Given the description of an element on the screen output the (x, y) to click on. 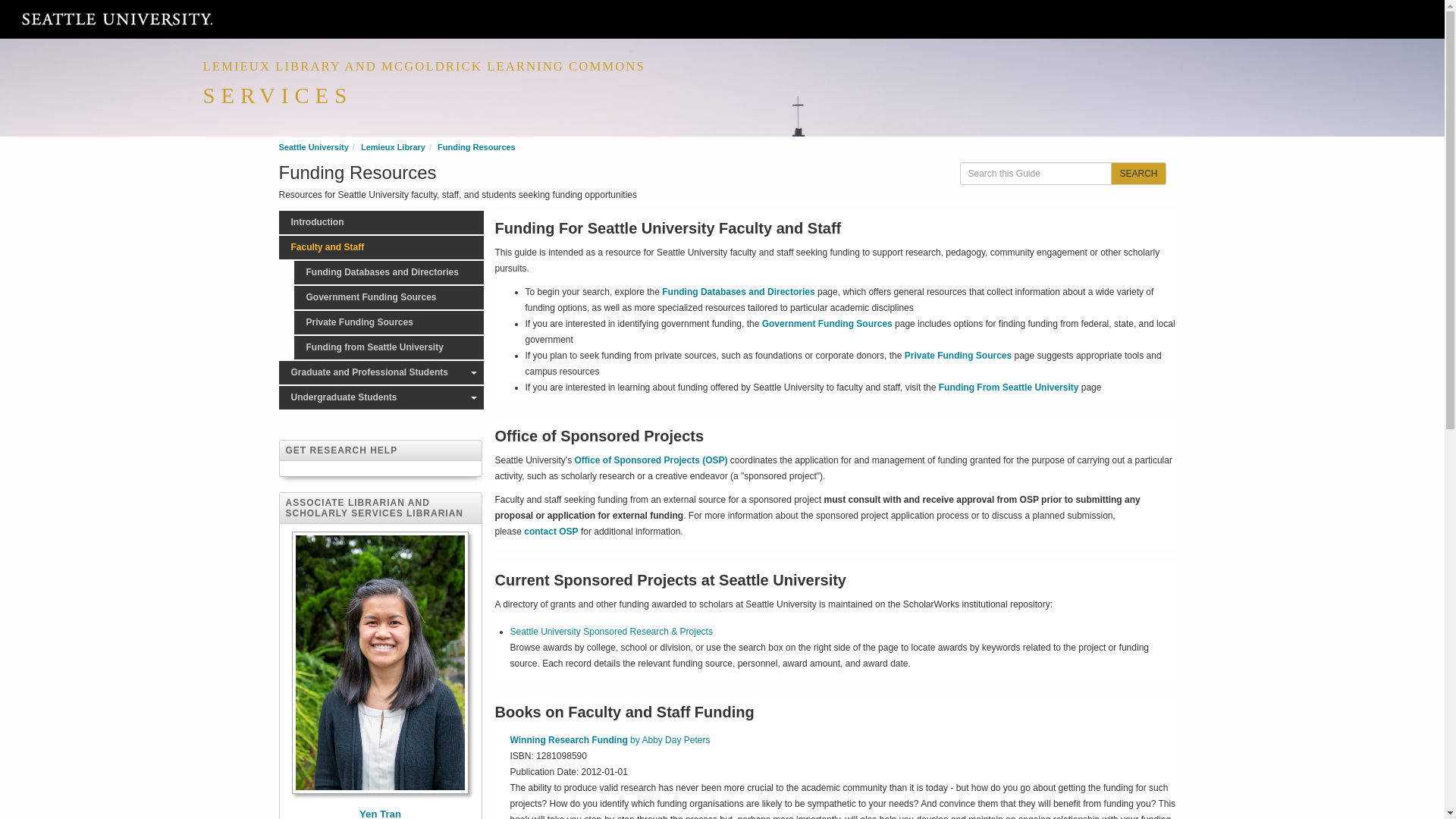
Government Funding Sources (388, 297)
Funding Databases and Directories (388, 272)
SEARCH (1138, 173)
Graduate and Professional Students (381, 372)
TOGGLE DROPDOWN (473, 372)
Introduction (381, 222)
Seattle University (314, 146)
Funding from Seattle University (388, 347)
Private Funding Sources (388, 322)
Funding Resources (476, 146)
